Given the description of an element on the screen output the (x, y) to click on. 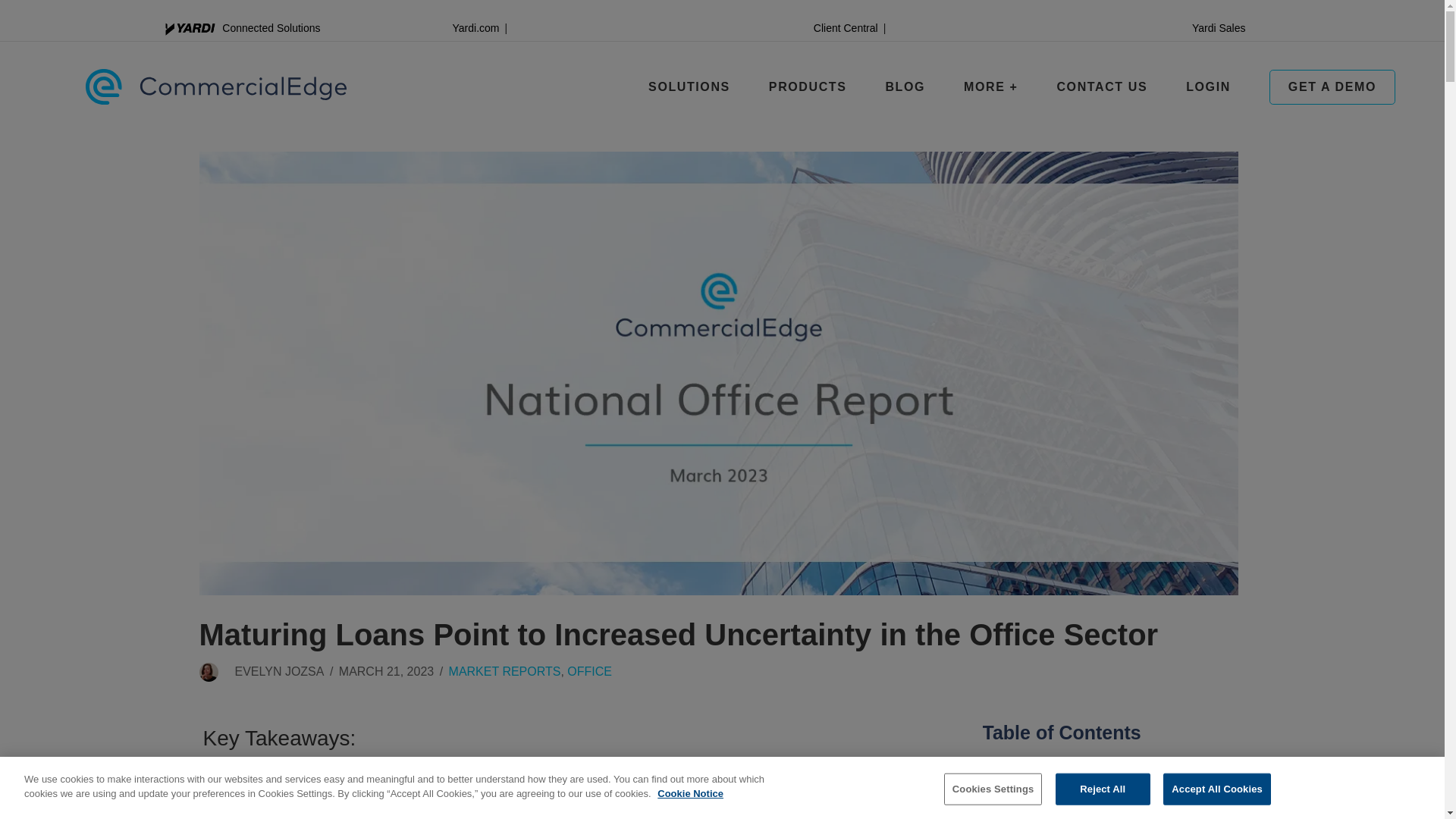
Client Central (845, 28)
Yardi Sales (1219, 28)
SOLUTIONS (688, 87)
LOGIN (1208, 87)
GET A DEMO (1331, 86)
MARKET REPORTS (504, 671)
Yardi.com (721, 27)
CONTACT US (475, 28)
PRODUCTS (1102, 87)
BLOG (807, 87)
OFFICE (904, 87)
